Given the description of an element on the screen output the (x, y) to click on. 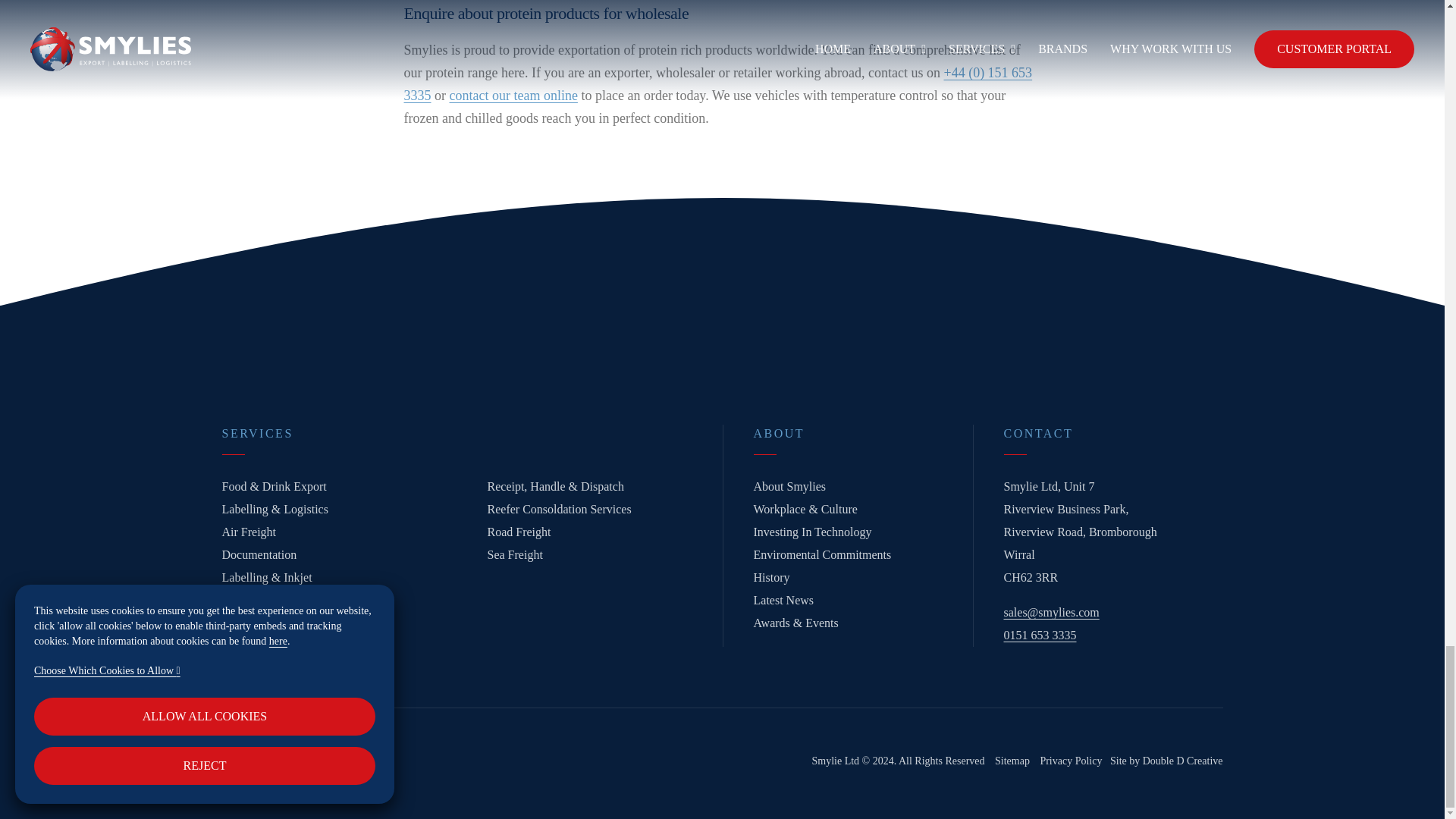
Instagram (280, 755)
Smylies (512, 95)
LinkedIn (238, 748)
WhatsApp (322, 755)
